Given the description of an element on the screen output the (x, y) to click on. 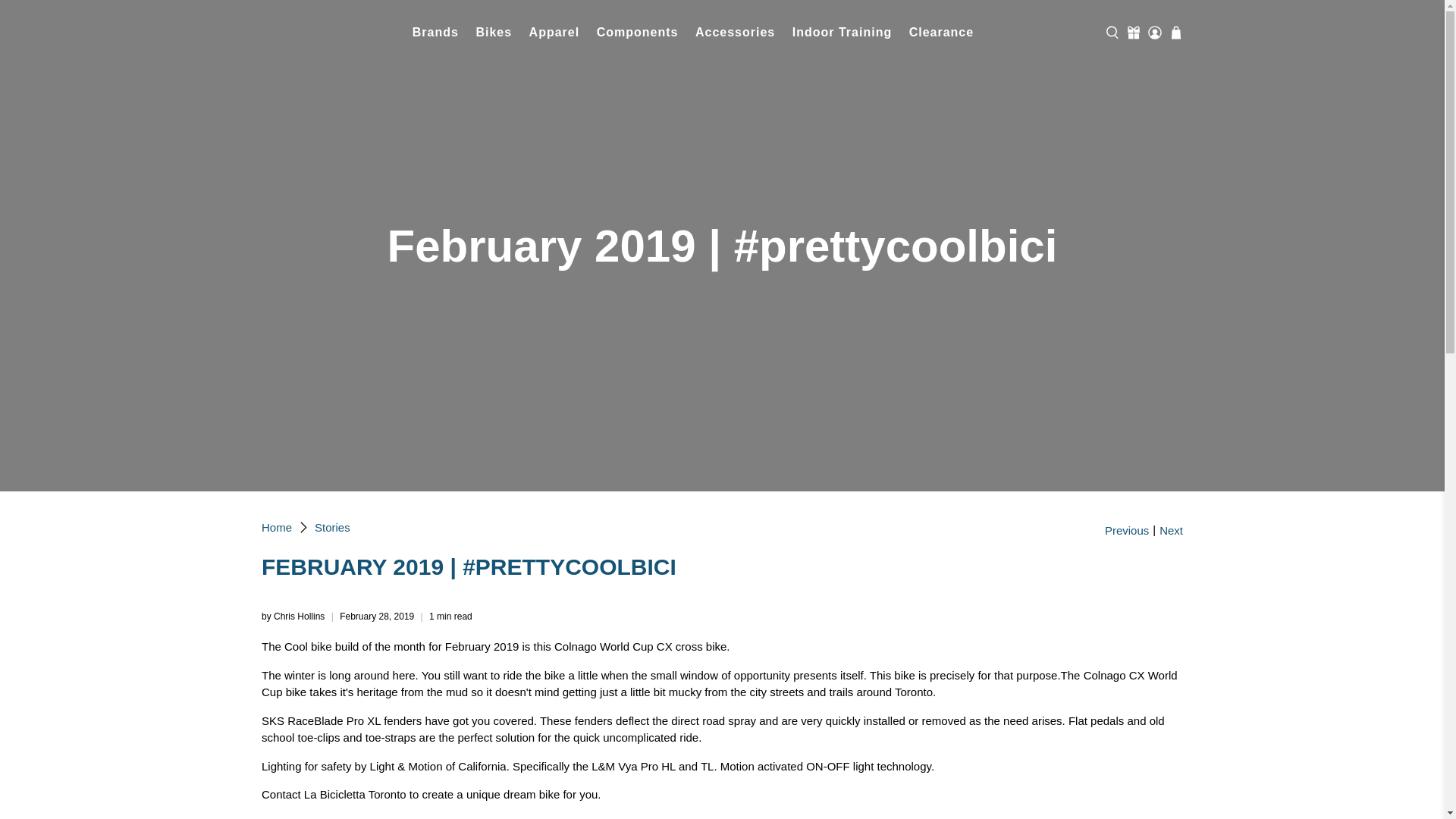
Brands (435, 32)
Indoor Training (841, 32)
Clearance (940, 32)
Components (636, 32)
Gift Card (1133, 32)
La Bicicletta Toronto (277, 527)
Apparel (553, 32)
Stories (332, 527)
Bikes (493, 32)
Accessories (735, 32)
Previous (1126, 530)
Next (1170, 530)
La Bicicletta Toronto (331, 32)
